Given the description of an element on the screen output the (x, y) to click on. 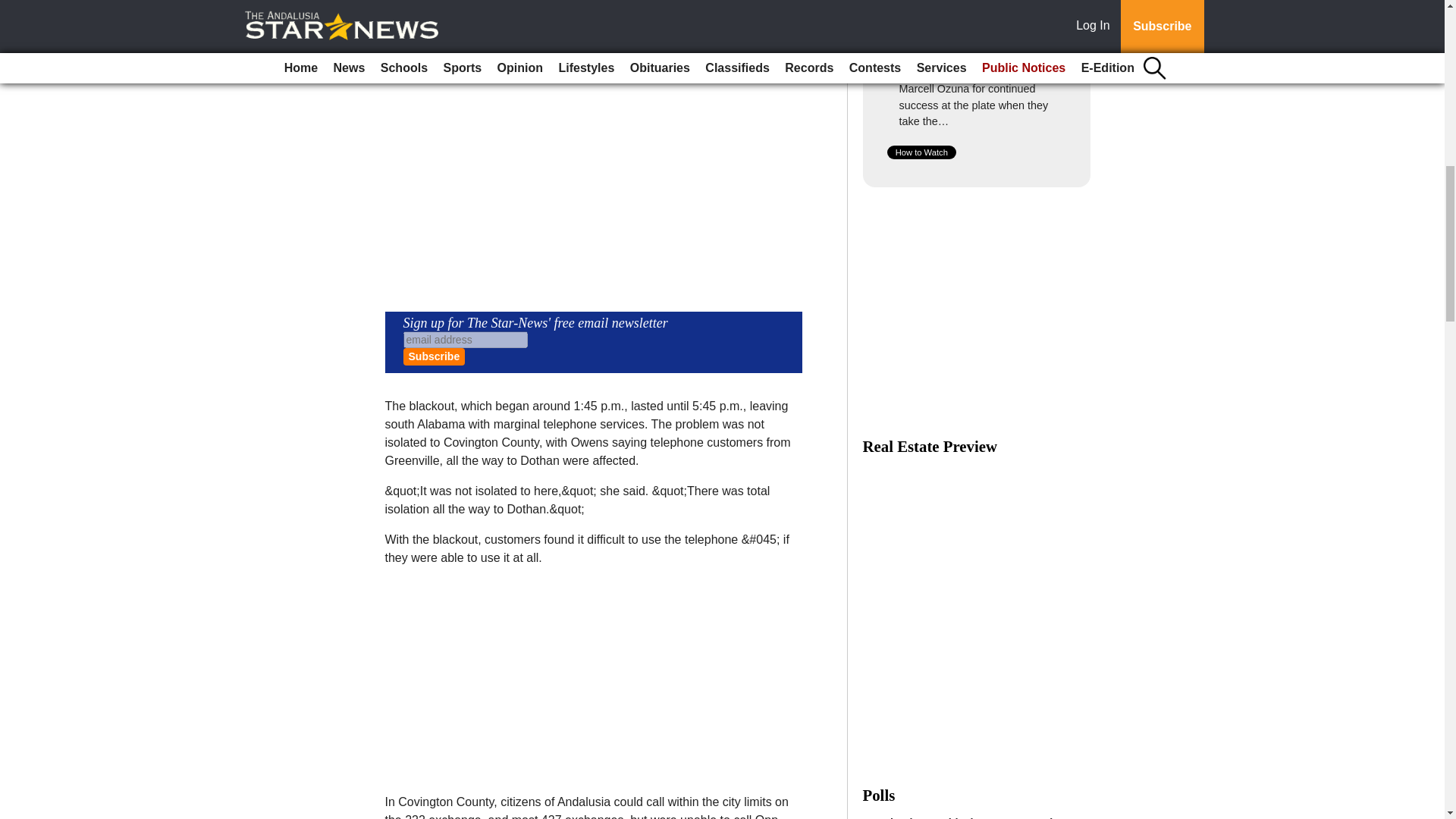
Subscribe (434, 356)
How to Watch (921, 151)
Subscribe (434, 356)
